Given the description of an element on the screen output the (x, y) to click on. 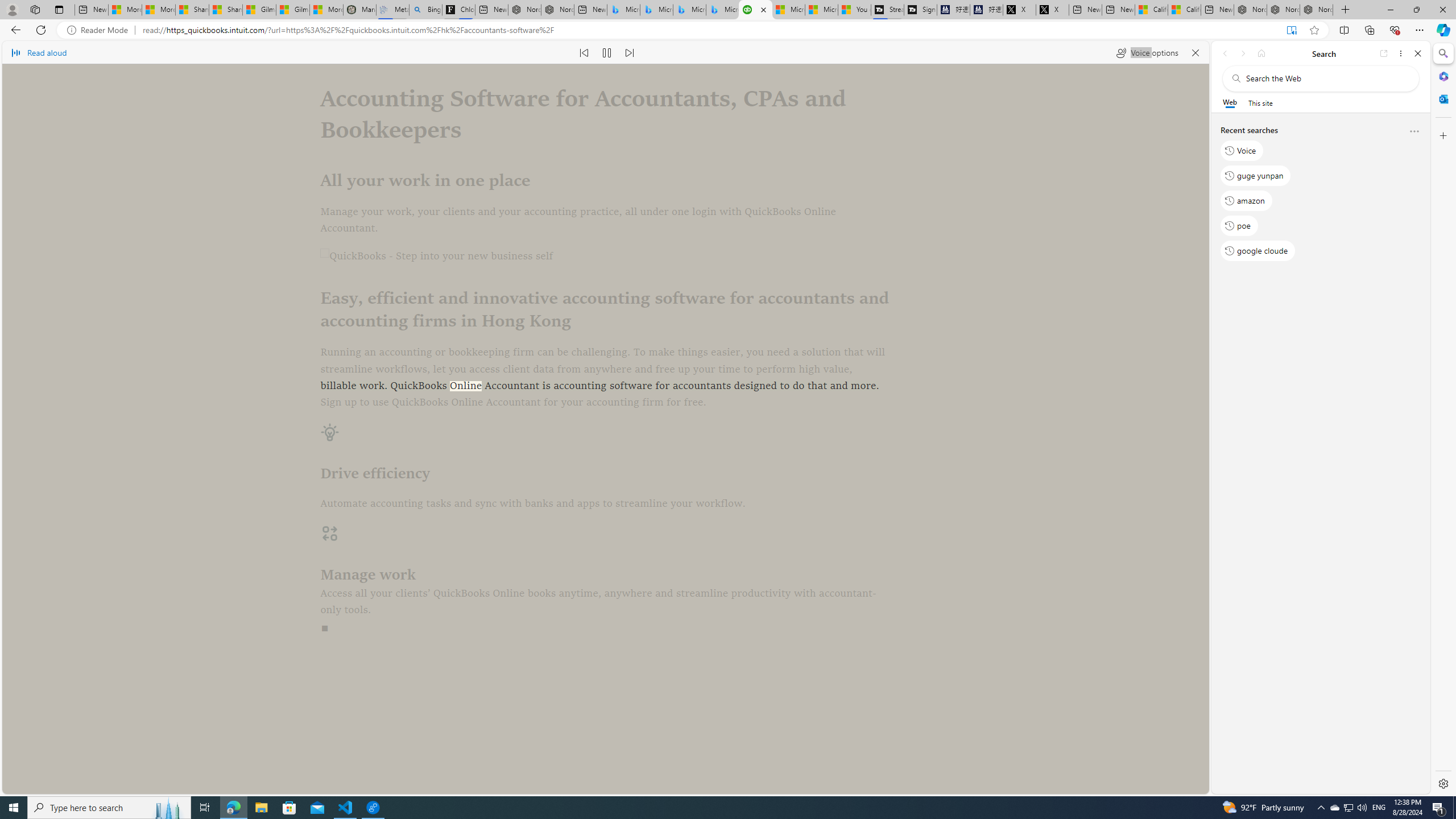
This site scope (1259, 102)
Nordace - Siena Pro 15 Essential Set (1316, 9)
Microsoft Bing Travel - Stays in Bangkok, Bangkok, Thailand (656, 9)
Forward (1242, 53)
Close read aloud (1195, 52)
